Given the description of an element on the screen output the (x, y) to click on. 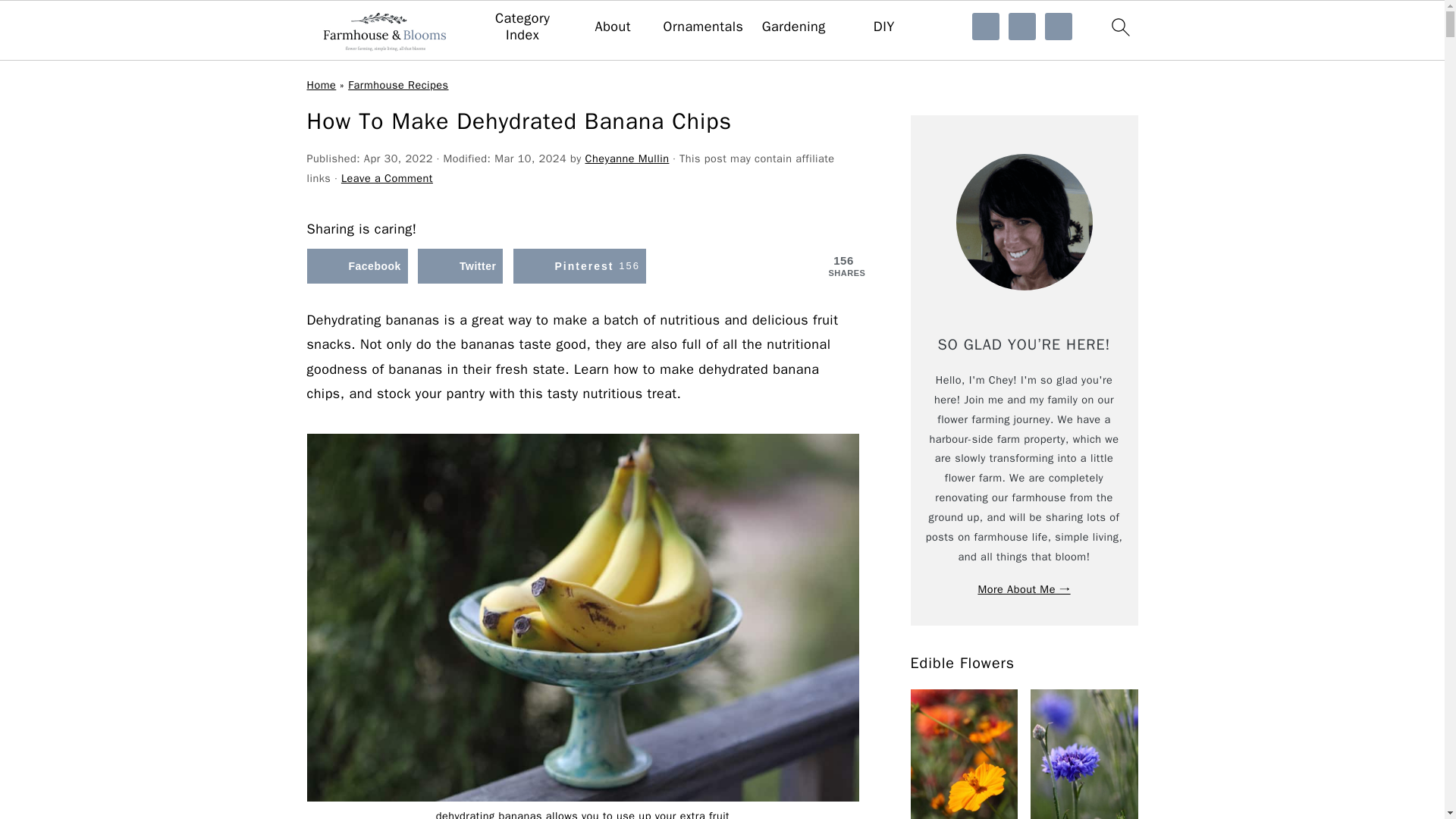
Category Index (522, 26)
Farmhouse Recipes (397, 84)
Home (320, 84)
Save to Pinterest (579, 265)
About (612, 27)
Share on Facebook (356, 265)
Ornamentals (703, 27)
DIY (884, 27)
Gardening (793, 27)
